Given the description of an element on the screen output the (x, y) to click on. 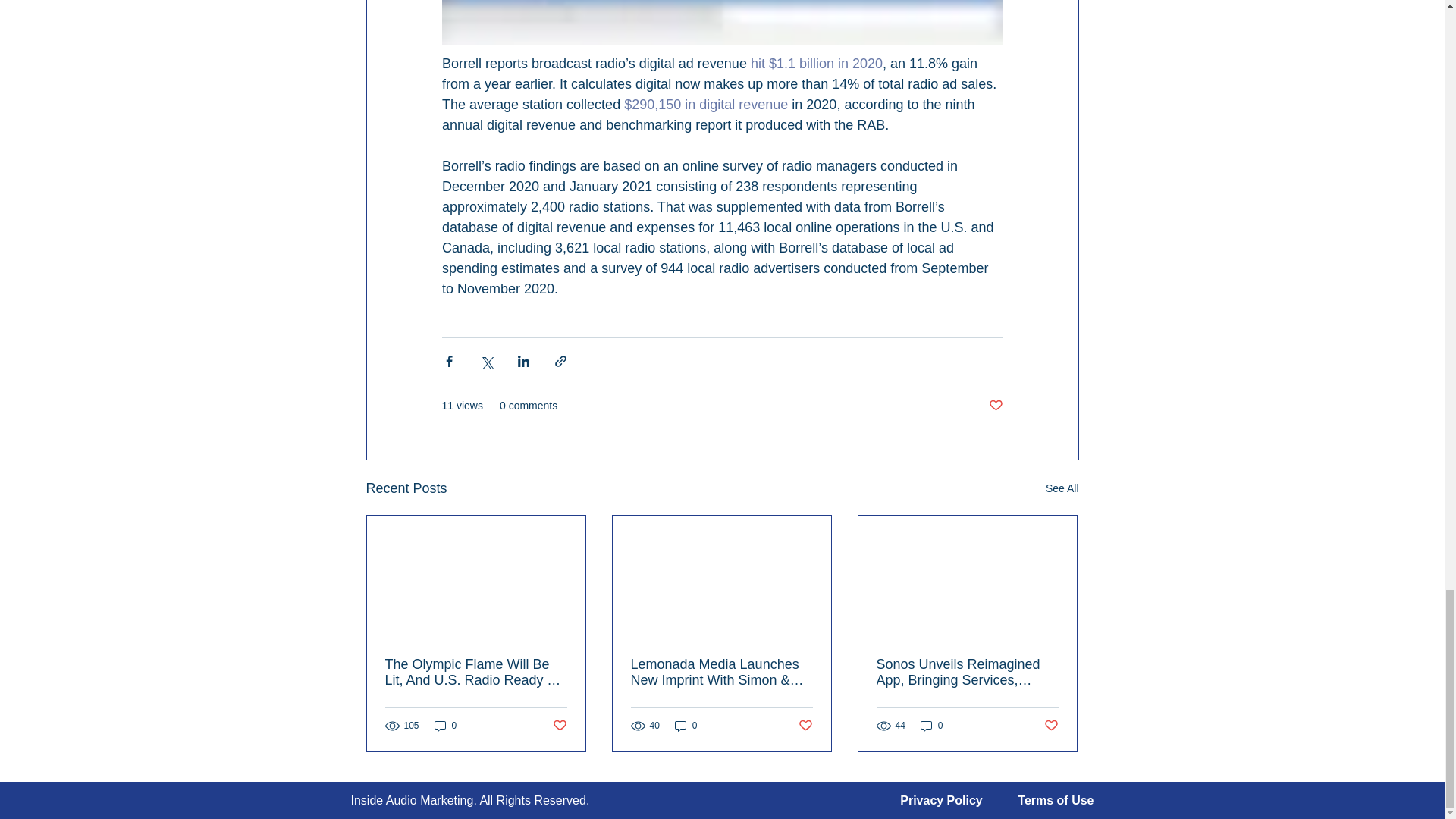
0 (445, 726)
Inside Audio Marketing. All Rights Reserved. (469, 799)
0 (931, 726)
0 (685, 726)
Post not marked as liked (995, 406)
Privacy Policy (940, 799)
See All (1061, 488)
Terms of Use (1055, 799)
Post not marked as liked (1050, 725)
Post not marked as liked (558, 725)
Post not marked as liked (804, 725)
